Given the description of an element on the screen output the (x, y) to click on. 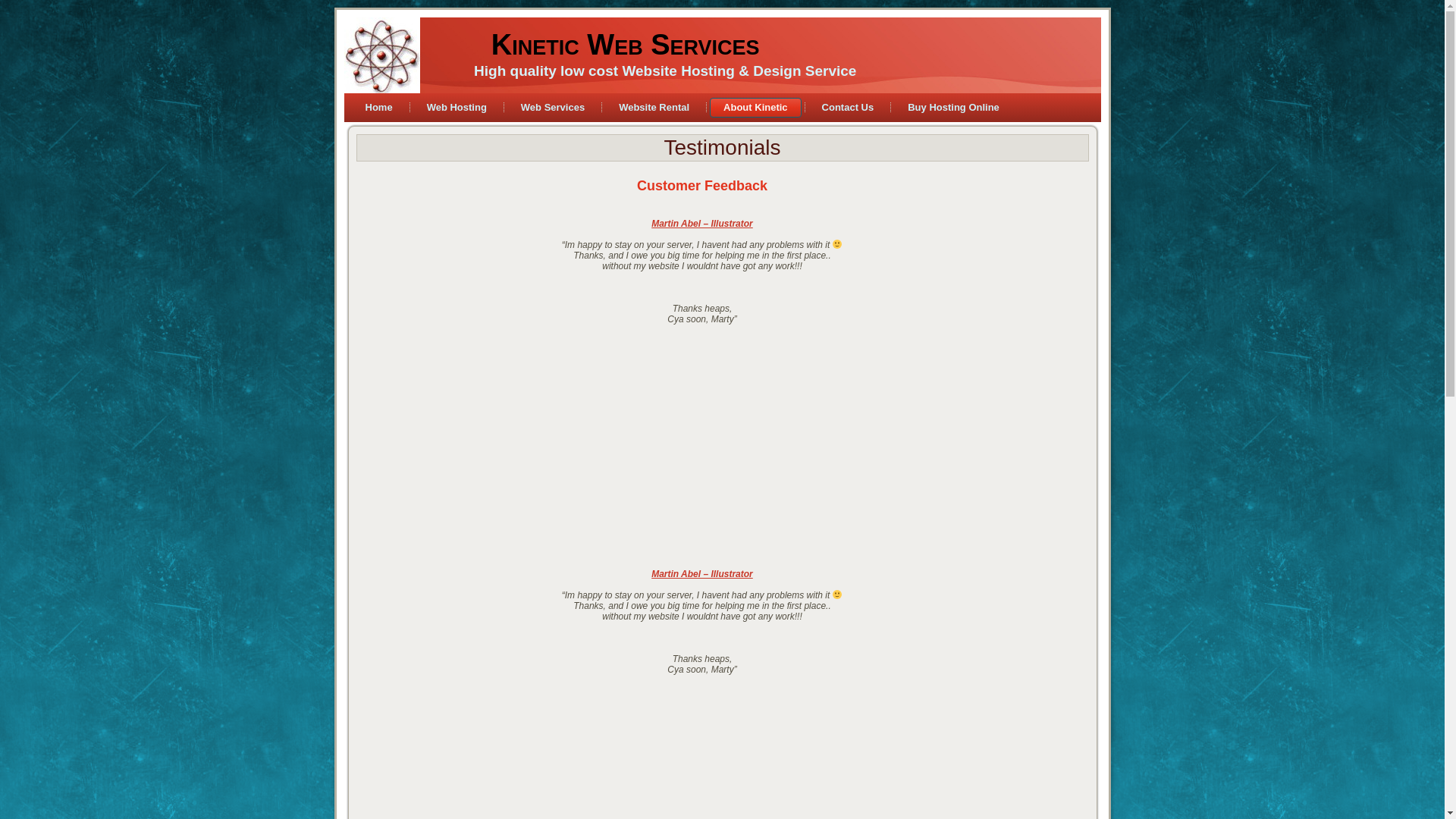
Kinetic Web Services Element type: text (625, 44)
Website Rental Element type: text (653, 107)
Contact Us Element type: text (848, 107)
Web Services Element type: text (552, 107)
About Kinetic Element type: text (755, 107)
Buy Hosting Online Element type: text (953, 107)
Web Hosting Element type: text (456, 107)
Home Element type: text (378, 107)
